Given the description of an element on the screen output the (x, y) to click on. 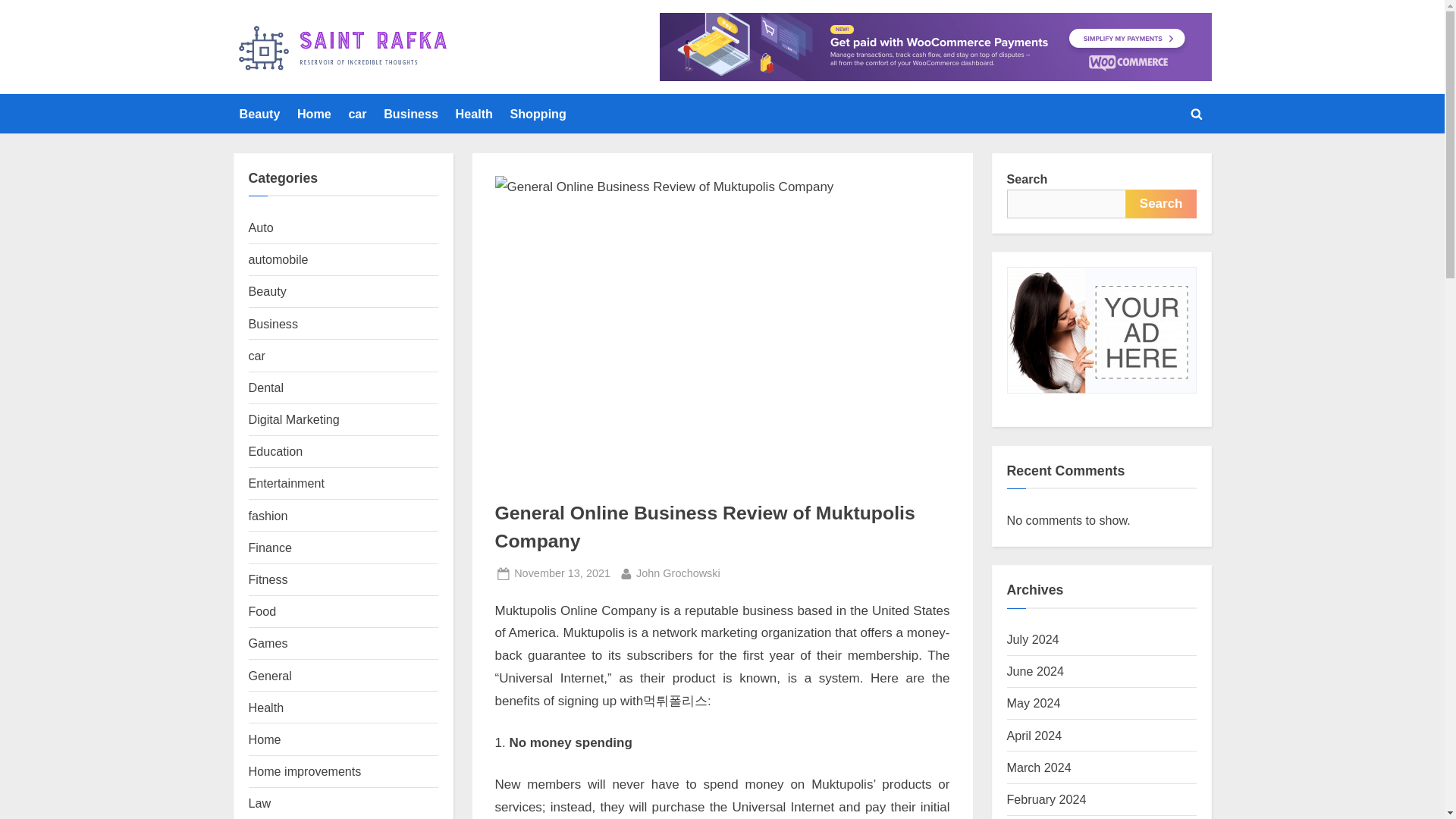
Toggle search form (1196, 113)
Games (268, 643)
Fitness (268, 579)
Beauty (267, 291)
Auto (260, 227)
car (357, 113)
Home (314, 113)
Finance (270, 547)
Home improvements (304, 771)
Law (259, 802)
Home (264, 739)
Food (262, 611)
General (561, 573)
Business (270, 675)
